Given the description of an element on the screen output the (x, y) to click on. 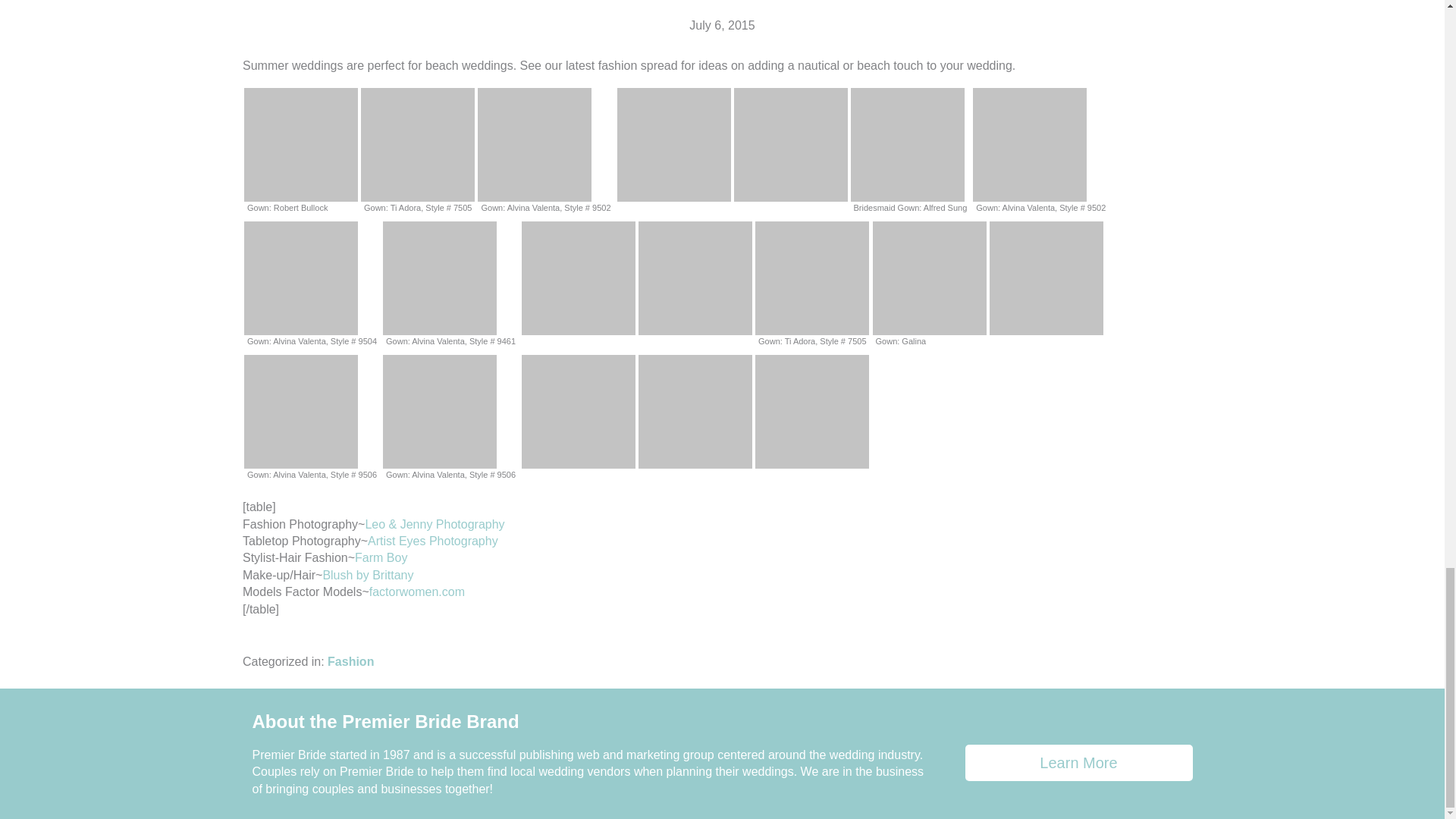
Artist Eyes Photography (432, 540)
factorwomen.com (416, 591)
Blush by Brittany (367, 574)
Farm Boy (381, 557)
Learn More (1077, 762)
Fashion (350, 661)
